Given the description of an element on the screen output the (x, y) to click on. 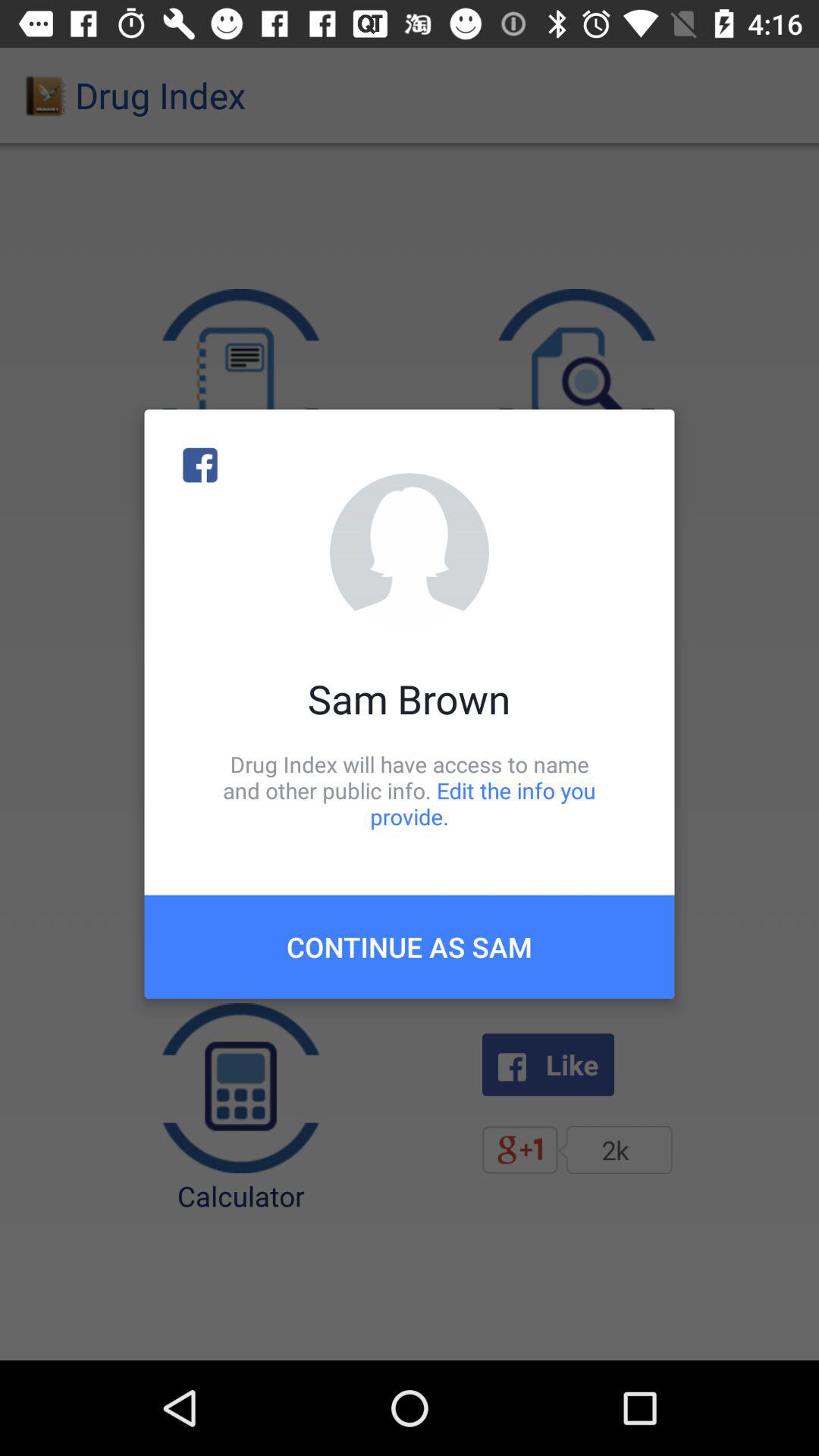
flip until the drug index will item (409, 790)
